Given the description of an element on the screen output the (x, y) to click on. 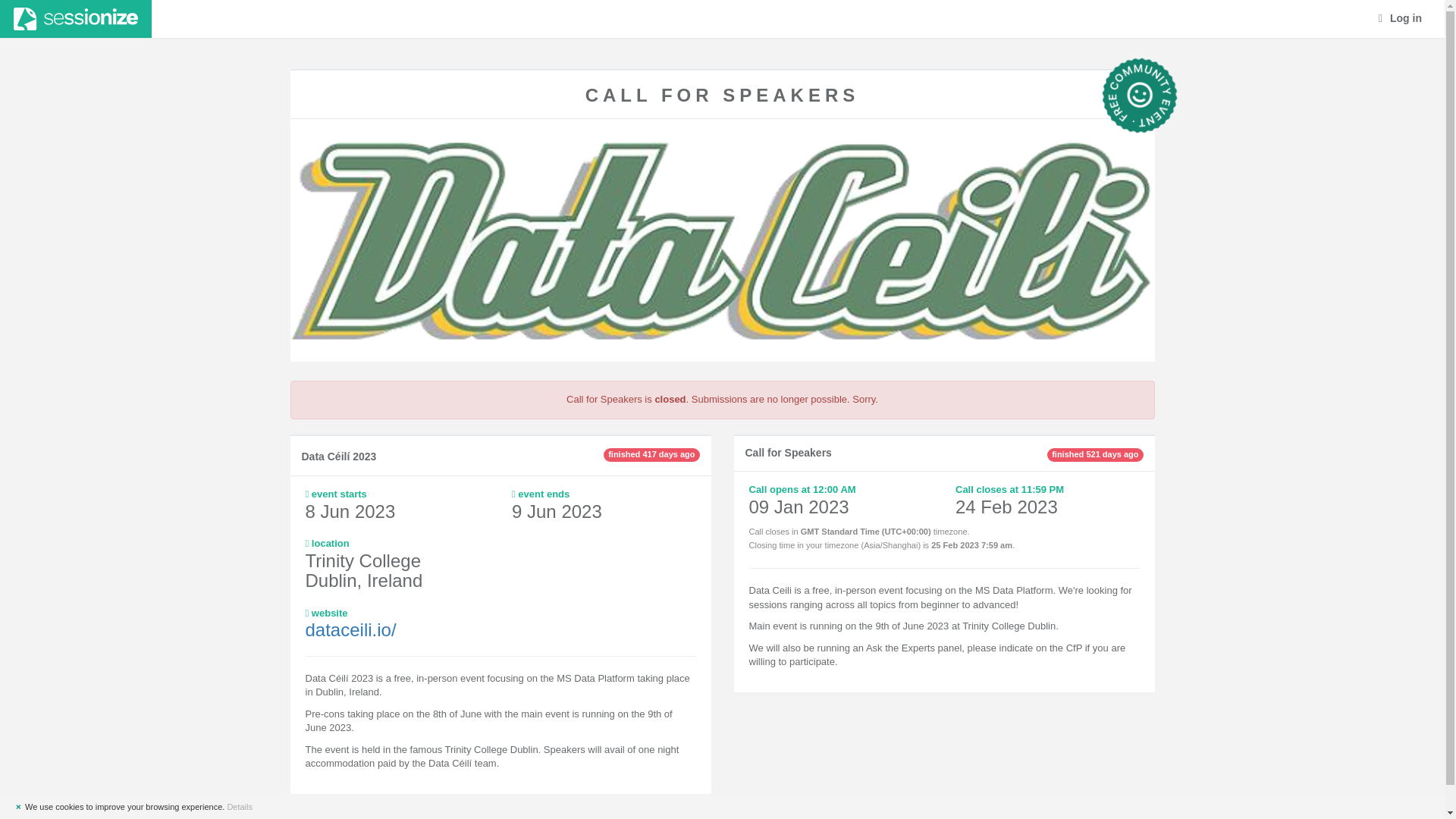
Log in (1399, 18)
Sessionize.com (75, 18)
Details (239, 806)
